Given the description of an element on the screen output the (x, y) to click on. 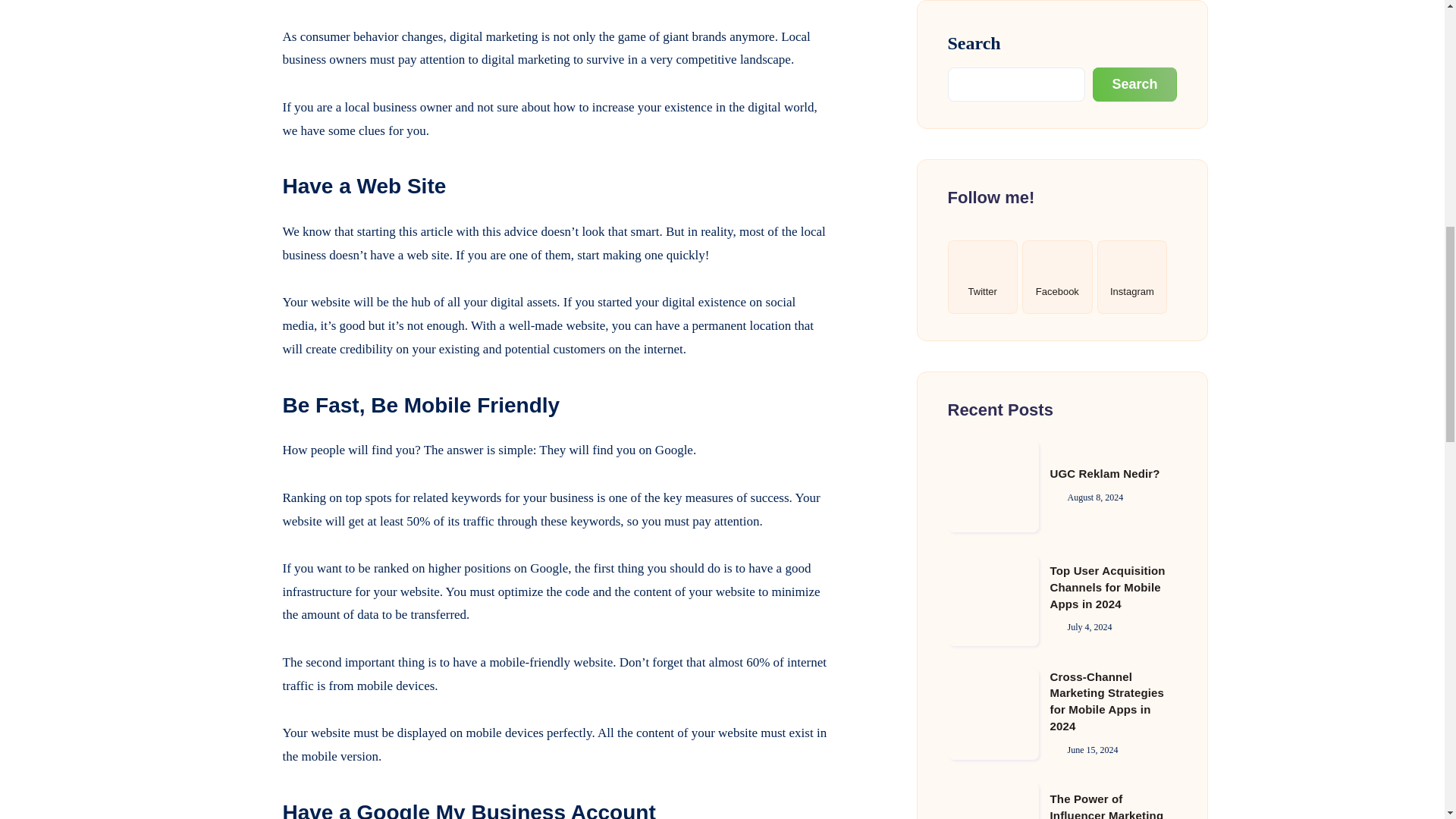
Share on Email (244, 79)
Cross-Channel Marketing Strategies for Mobile Apps in 2024 (993, 73)
The Power of Influencer Marketing for Wellness Apps (1106, 175)
Share on Pinterest (244, 45)
The Power of Influencer Marketing for Wellness Apps (993, 187)
Share on Linkedin (244, 13)
Top User Acquisition Channels for Mobile Apps in 2024 (993, 2)
Cross-Channel Marketing Strategies for Mobile Apps in 2024 (1106, 61)
The Impact of User-Generated Content on Ad Campaigns (993, 301)
The Impact of User-Generated Content on Ad Campaigns (1110, 289)
